Given the description of an element on the screen output the (x, y) to click on. 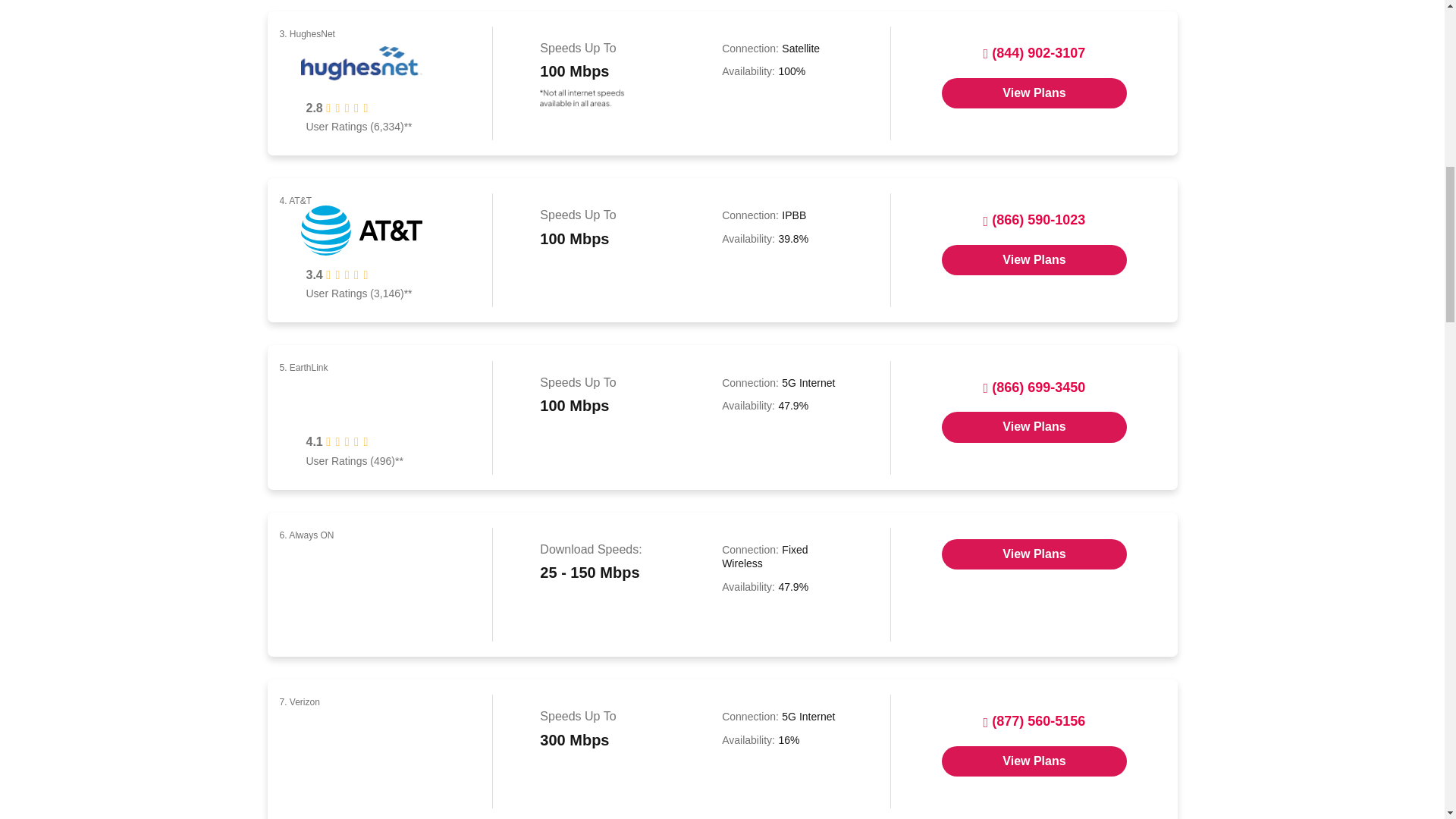
Opens in a new window (1034, 761)
Opens in a new window (1034, 426)
Opens in a new window (1034, 92)
Opens in a new window (1034, 259)
